Given the description of an element on the screen output the (x, y) to click on. 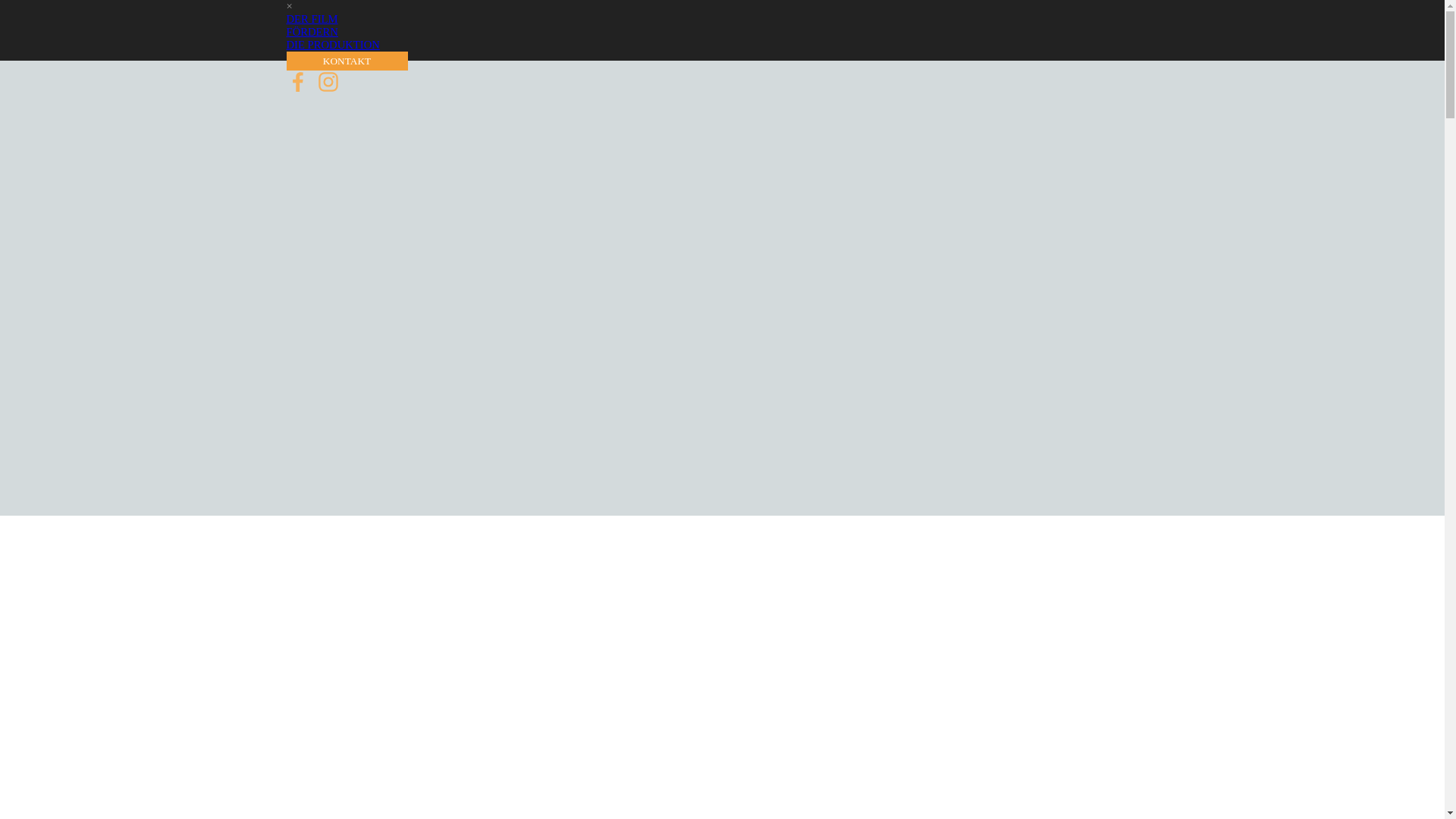
KONTAKT Element type: text (346, 60)
DER FILM Element type: text (312, 18)
DIE PRODUKTION Element type: text (332, 44)
